Given the description of an element on the screen output the (x, y) to click on. 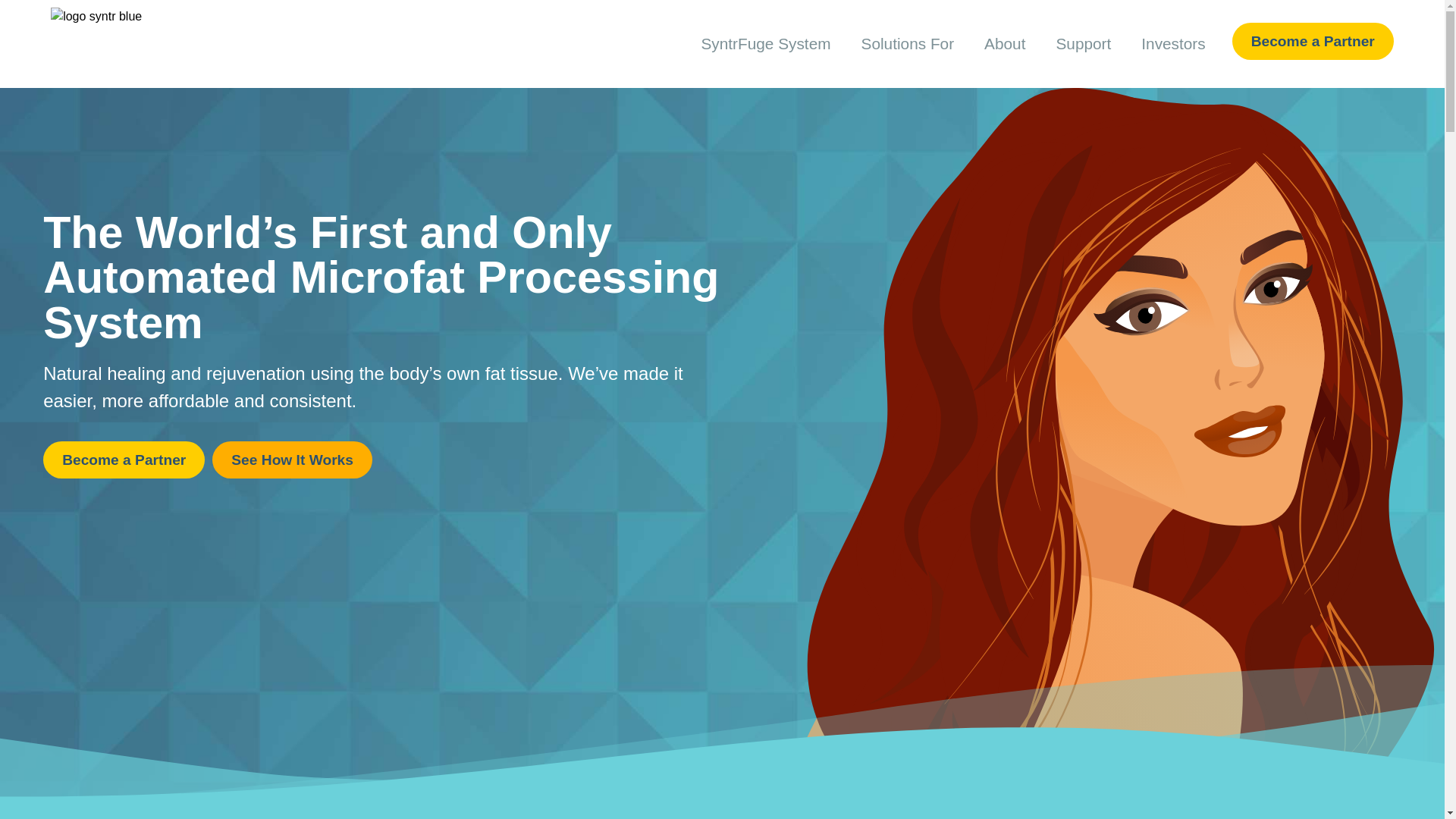
Support (1083, 43)
Investors (1172, 43)
Become a Partner (1312, 40)
Become a Partner (124, 459)
About (1005, 43)
Solutions For (907, 43)
See How It Works (292, 459)
SyntrFuge System (765, 43)
